Given the description of an element on the screen output the (x, y) to click on. 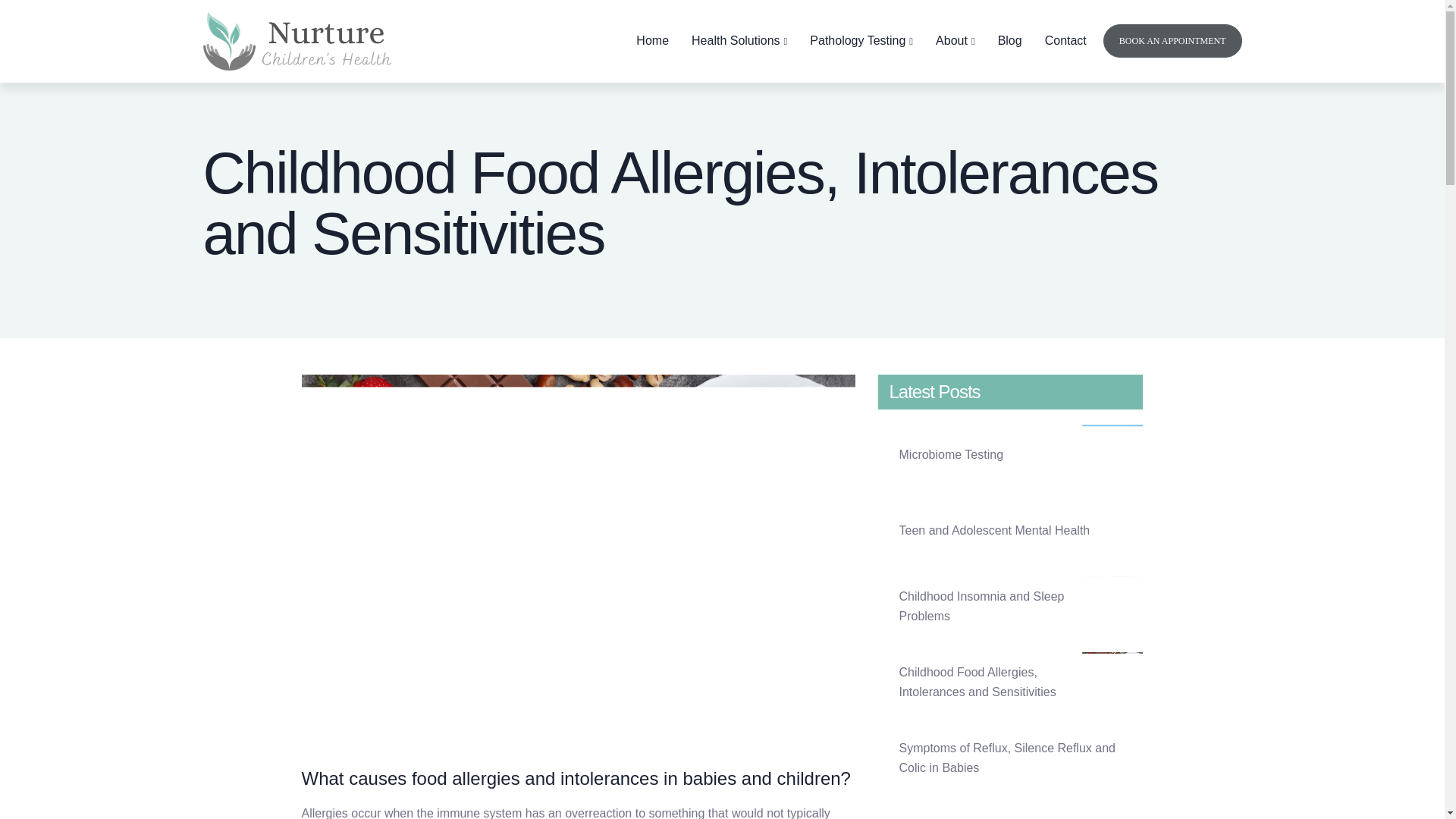
Contact (1065, 40)
Health Solutions (739, 40)
Blog (1009, 40)
About (955, 40)
Home (652, 40)
BOOK AN APPOINTMENT (1172, 41)
Pathology Testing (860, 40)
